Given the description of an element on the screen output the (x, y) to click on. 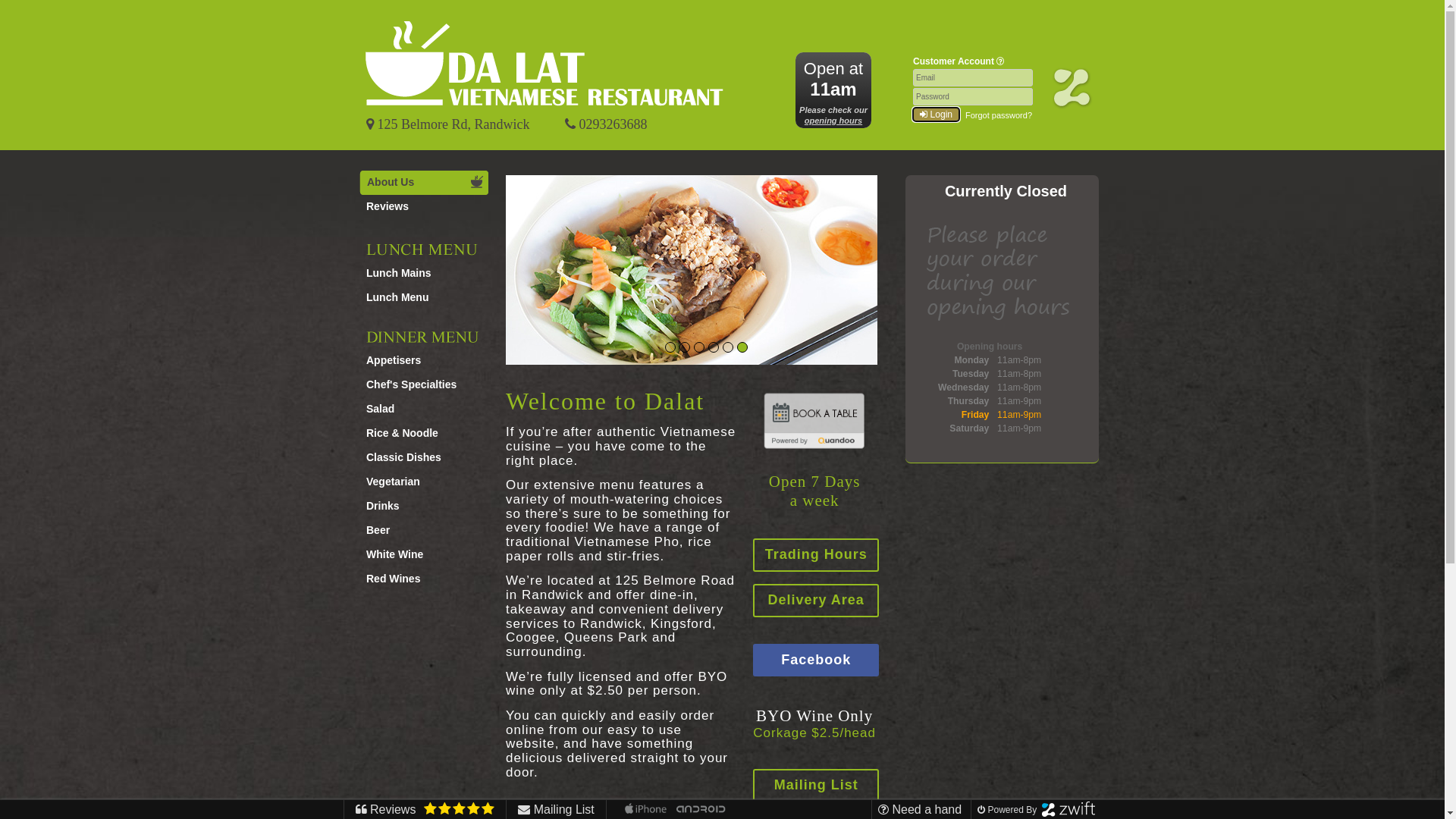
opening hours Element type: text (833, 120)
Mailing List Element type: text (815, 785)
Vegetarian Element type: text (420, 482)
Chef's Specialties Element type: text (420, 385)
Beer Element type: text (420, 530)
Lunch Menu Element type: text (420, 297)
Reviews Element type: text (422, 206)
Delivery Area Element type: text (815, 600)
Powered By Element type: text (1034, 809)
Rice & Noodle Element type: text (420, 433)
Appetisers Element type: text (420, 360)
Facebook Element type: text (815, 660)
Salad Element type: text (420, 409)
Drinks Element type: text (420, 506)
Trading Hours Element type: text (815, 554)
Red Wines Element type: text (420, 579)
Login Element type: text (936, 114)
White Wine Element type: text (420, 554)
About Us Element type: text (423, 182)
Lunch Mains Element type: text (420, 273)
Classic Dishes Element type: text (420, 457)
